Given the description of an element on the screen output the (x, y) to click on. 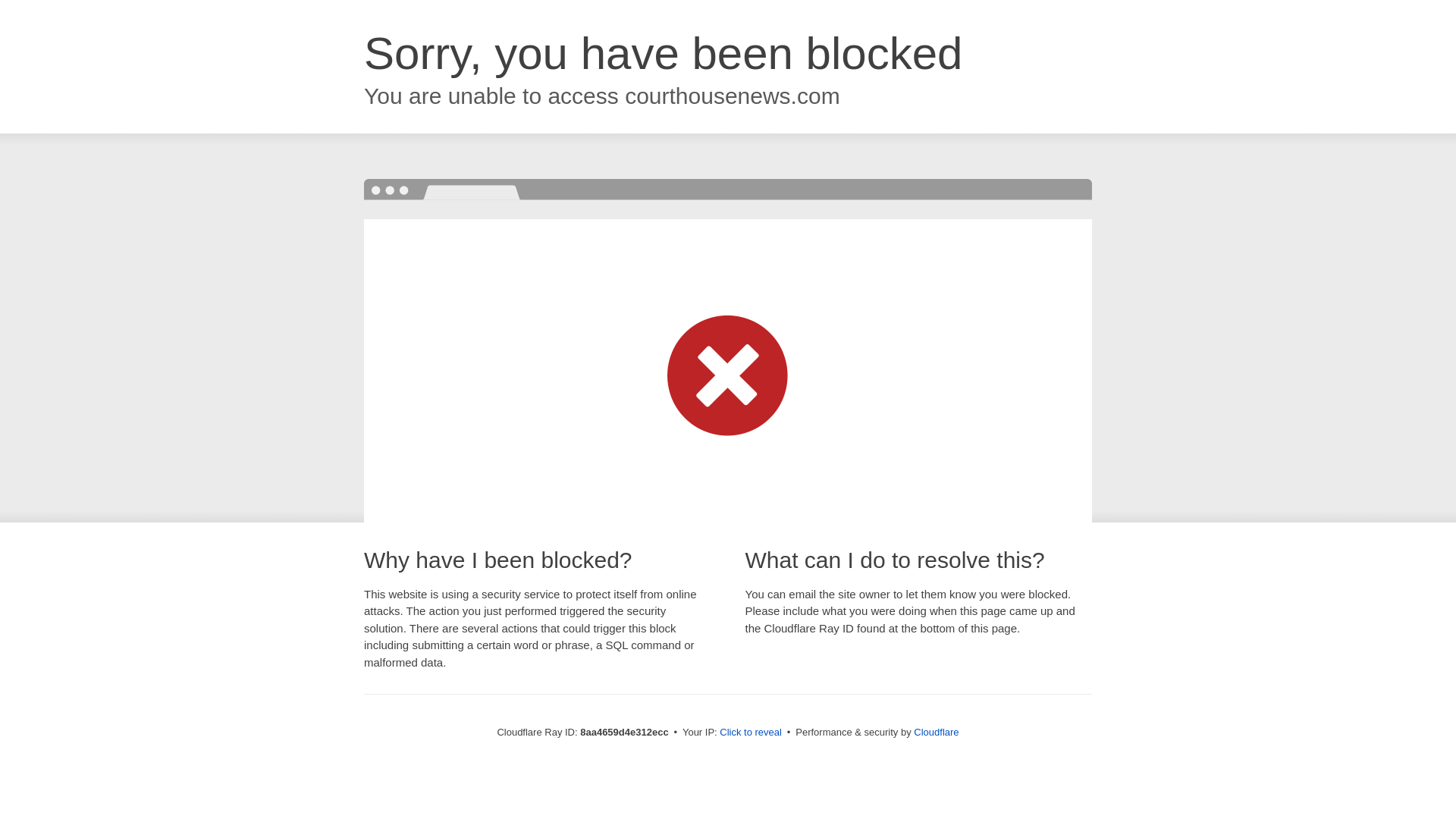
Cloudflare (936, 731)
Click to reveal (750, 732)
